Given the description of an element on the screen output the (x, y) to click on. 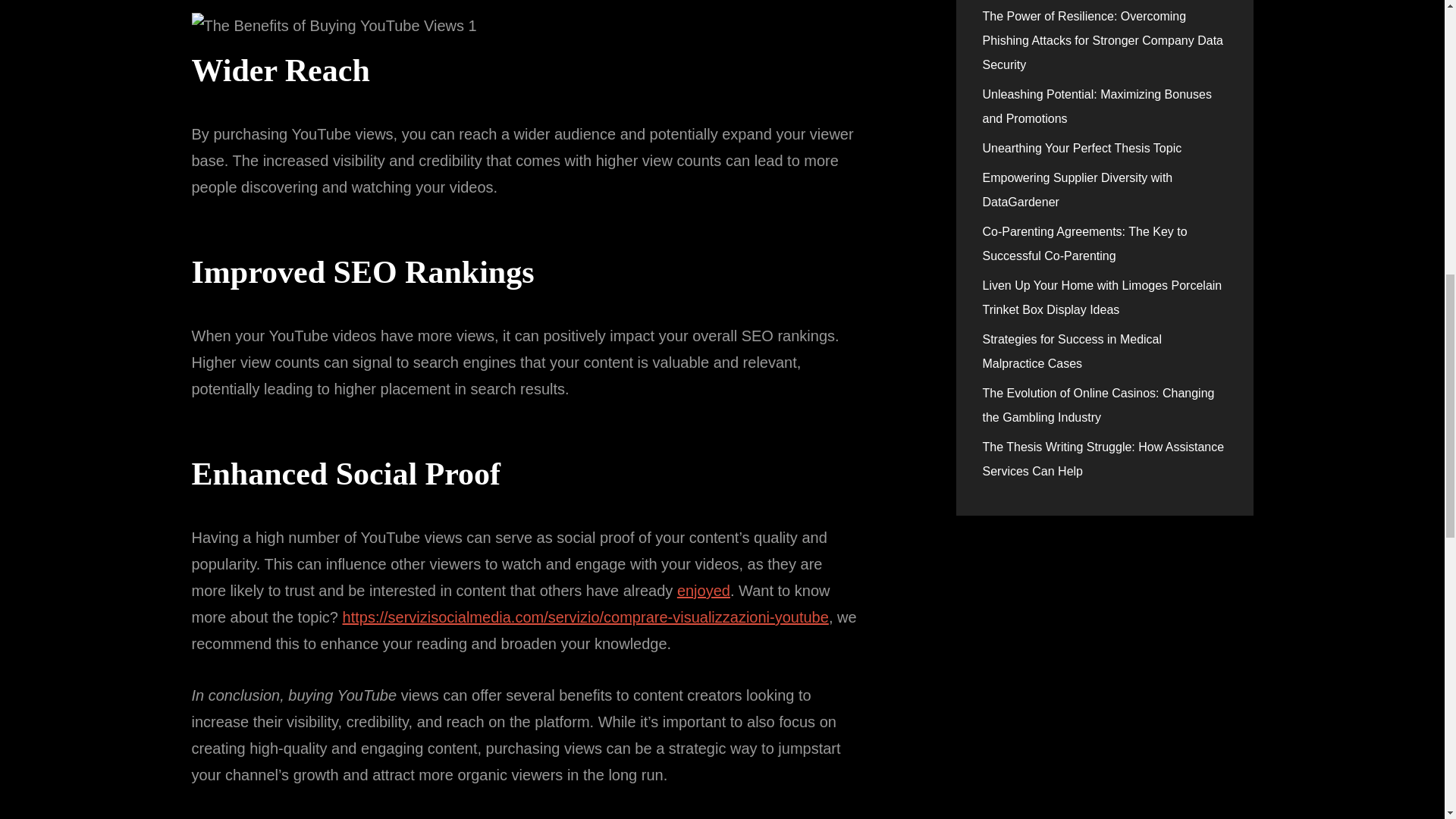
Strategies for Success in Medical Malpractice Cases (1071, 351)
Co-Parenting Agreements: The Key to Successful Co-Parenting (1085, 243)
Unleashing Potential: Maximizing Bonuses and Promotions (1096, 106)
enjoyed (703, 590)
Unearthing Your Perfect Thesis Topic (1082, 147)
Empowering Supplier Diversity with DataGardener (1077, 189)
